Given the description of an element on the screen output the (x, y) to click on. 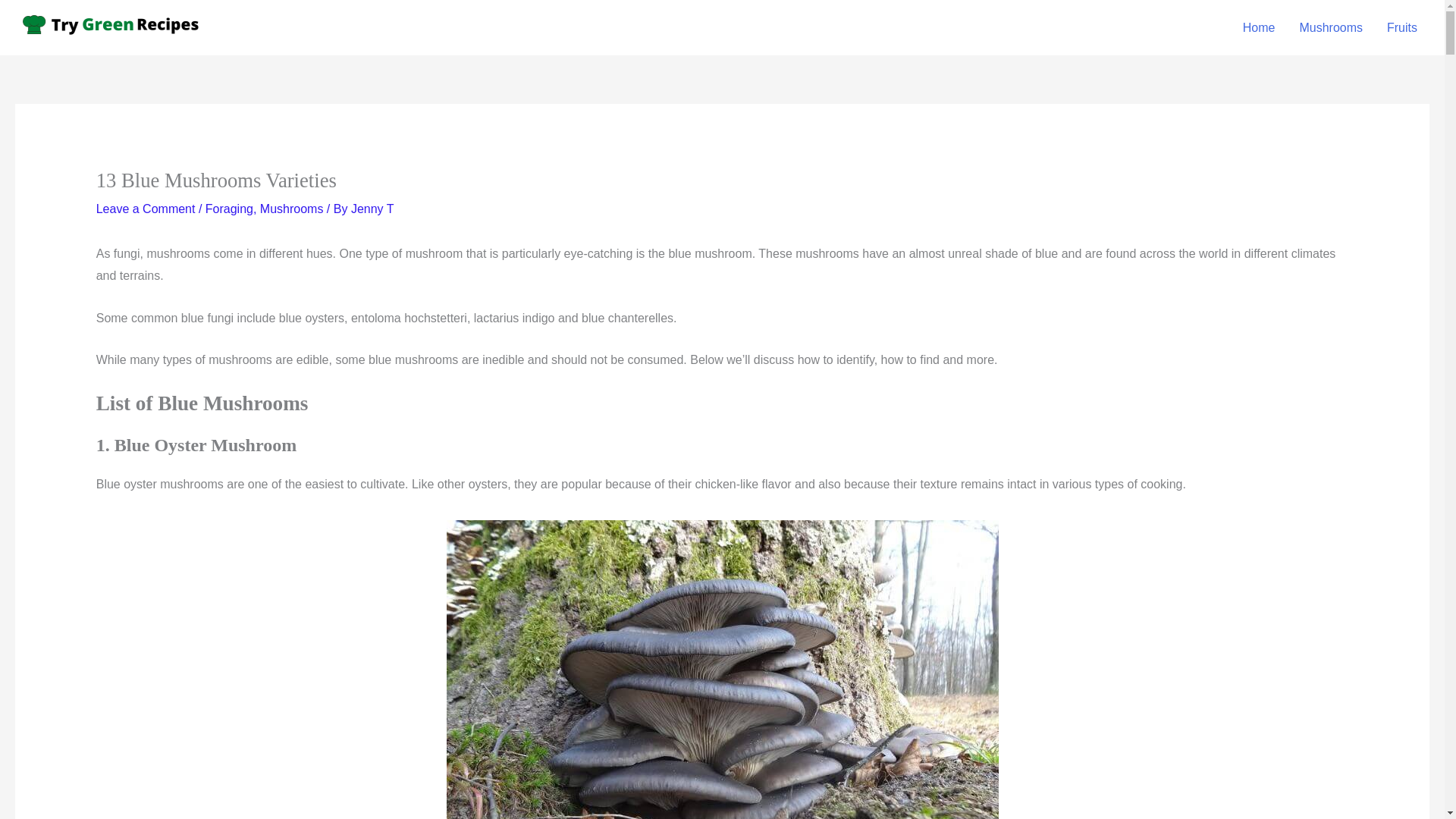
Mushrooms (1330, 27)
View all posts by Jenny T (372, 208)
Foraging (229, 208)
Leave a Comment (145, 208)
Home (1258, 27)
Jenny T (372, 208)
Fruits (1401, 27)
Mushrooms (291, 208)
